Given the description of an element on the screen output the (x, y) to click on. 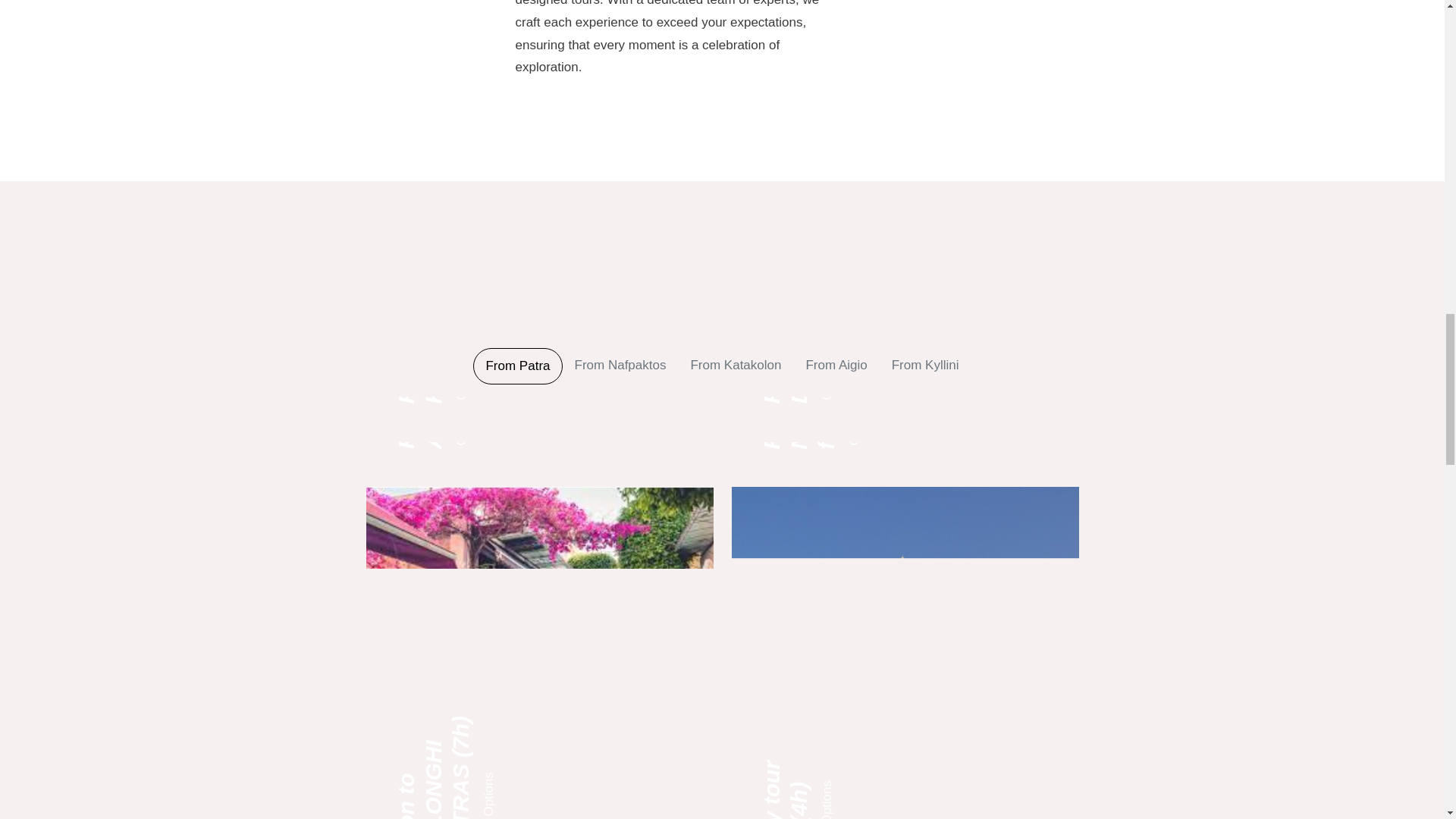
From Aigio (836, 365)
From Katakolon (735, 365)
From Kyllini (925, 365)
From Patra (517, 366)
From Nafpaktos (620, 365)
